Given the description of an element on the screen output the (x, y) to click on. 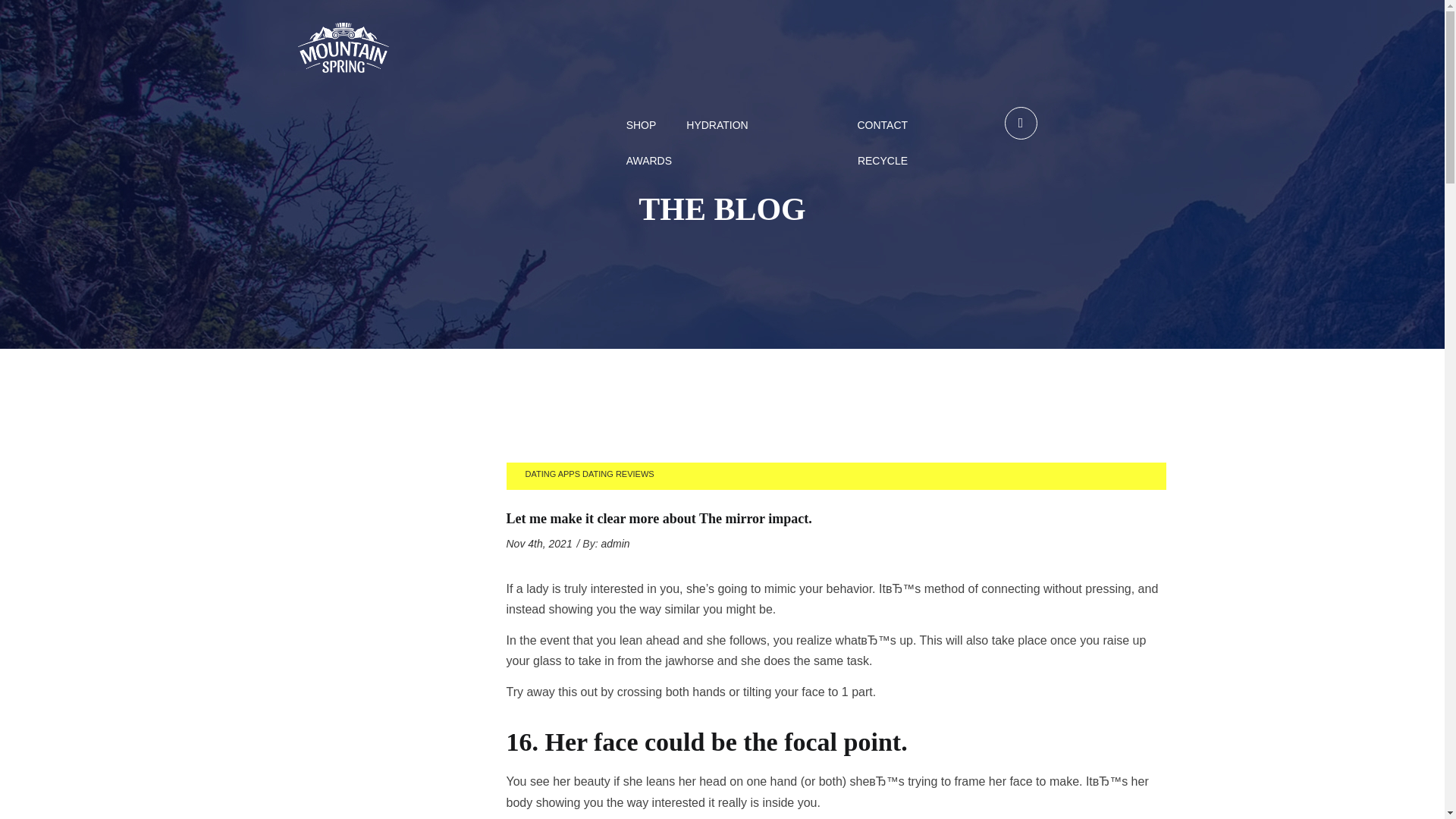
HYDRATION (716, 125)
CONTACT (882, 125)
View your shopping cart (1020, 123)
SHOP (641, 125)
AWARDS (648, 161)
DATING APPS DATING REVIEWS (589, 474)
Nov 4th, 2021 (539, 543)
RECYCLE (882, 161)
admin (613, 543)
